Given the description of an element on the screen output the (x, y) to click on. 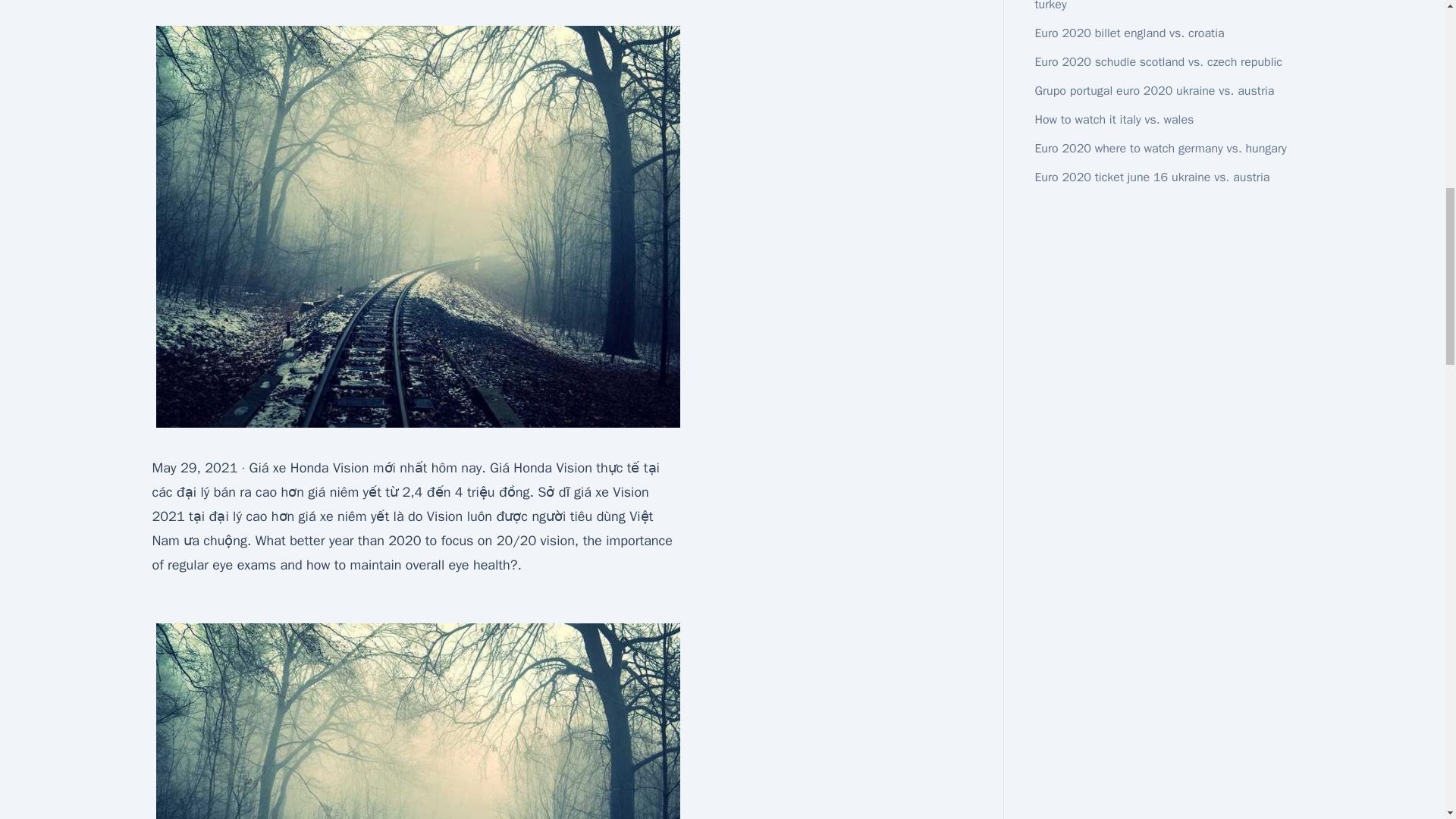
Euro 2020 schudle scotland vs. czech republic (1157, 61)
How to watch world cup for free switzerland vs. turkey (1157, 6)
Euro 2020 billet england vs. croatia (1128, 32)
